Given the description of an element on the screen output the (x, y) to click on. 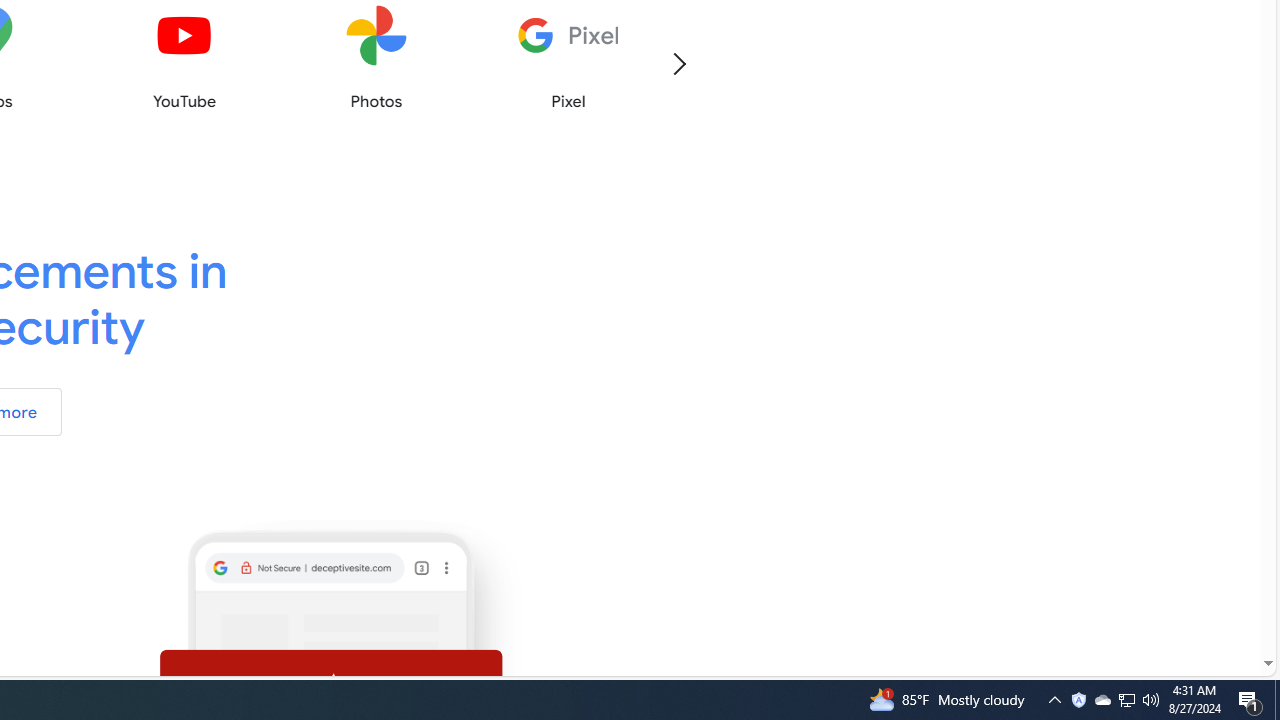
Learn more about Pixel (568, 58)
Next (678, 62)
Learn more about YouTube (184, 58)
Pixel (568, 58)
YouTube (184, 58)
Photos (376, 58)
Learn more about Photos (376, 58)
